Given the description of an element on the screen output the (x, y) to click on. 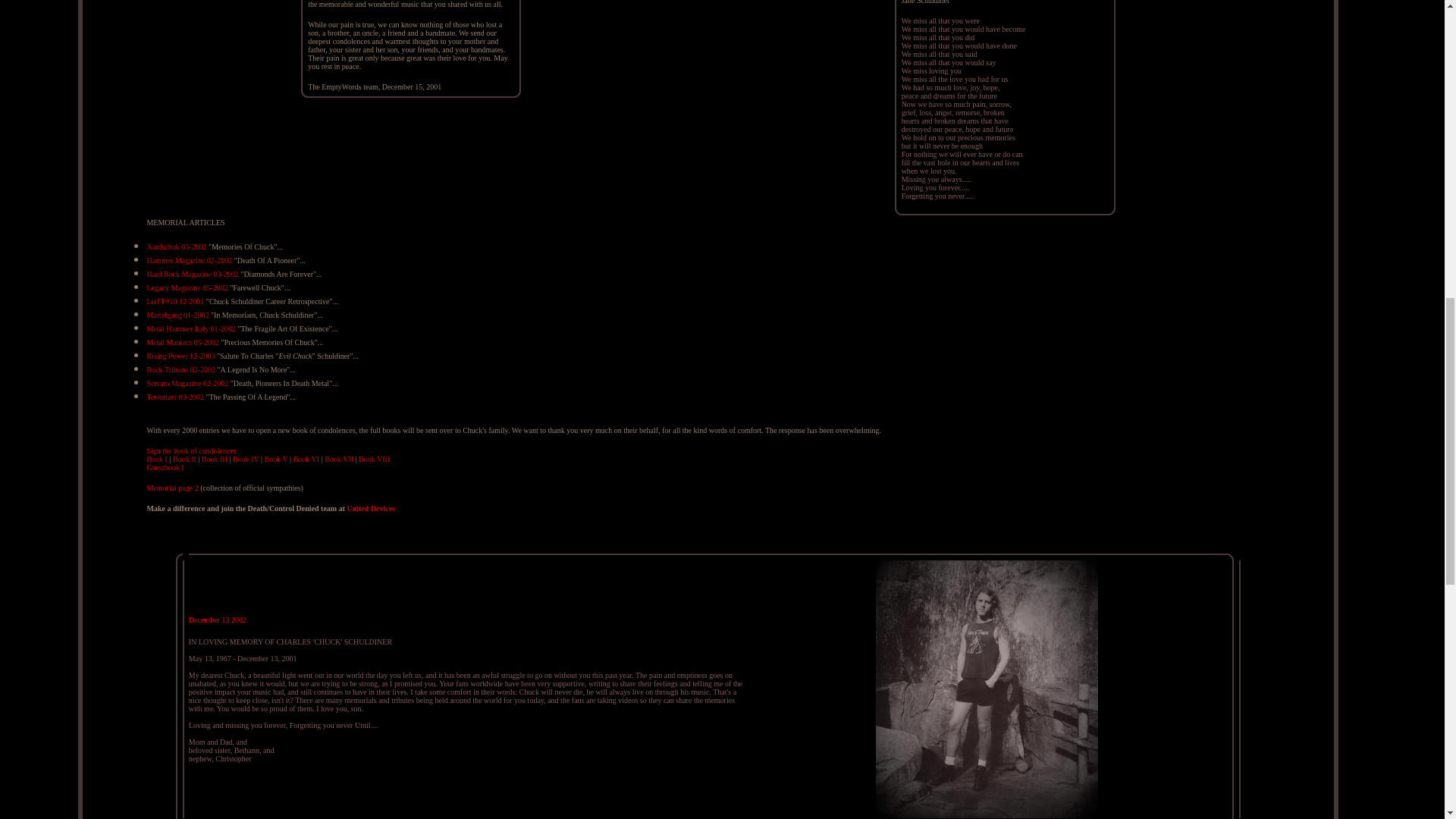
Metal Hammer Italy 01-2002 (190, 328)
Book I (157, 459)
Scream Magazine 02-2002 (187, 383)
Hard Rock Magazine 03-2002 (192, 274)
Book IV (245, 459)
Rock Tribune 02-2002 (181, 369)
Hammer Magazine 02-2002 (189, 260)
Book VI (307, 459)
Martelgang 01-2002 (177, 315)
Book V (276, 459)
Guestbook I (165, 467)
Legacy Magazine 05-2002 (187, 287)
Sign the book of condolences (191, 450)
Rising Power 12-2003 (180, 356)
Terrorizer 03-2002 (175, 397)
